Given the description of an element on the screen output the (x, y) to click on. 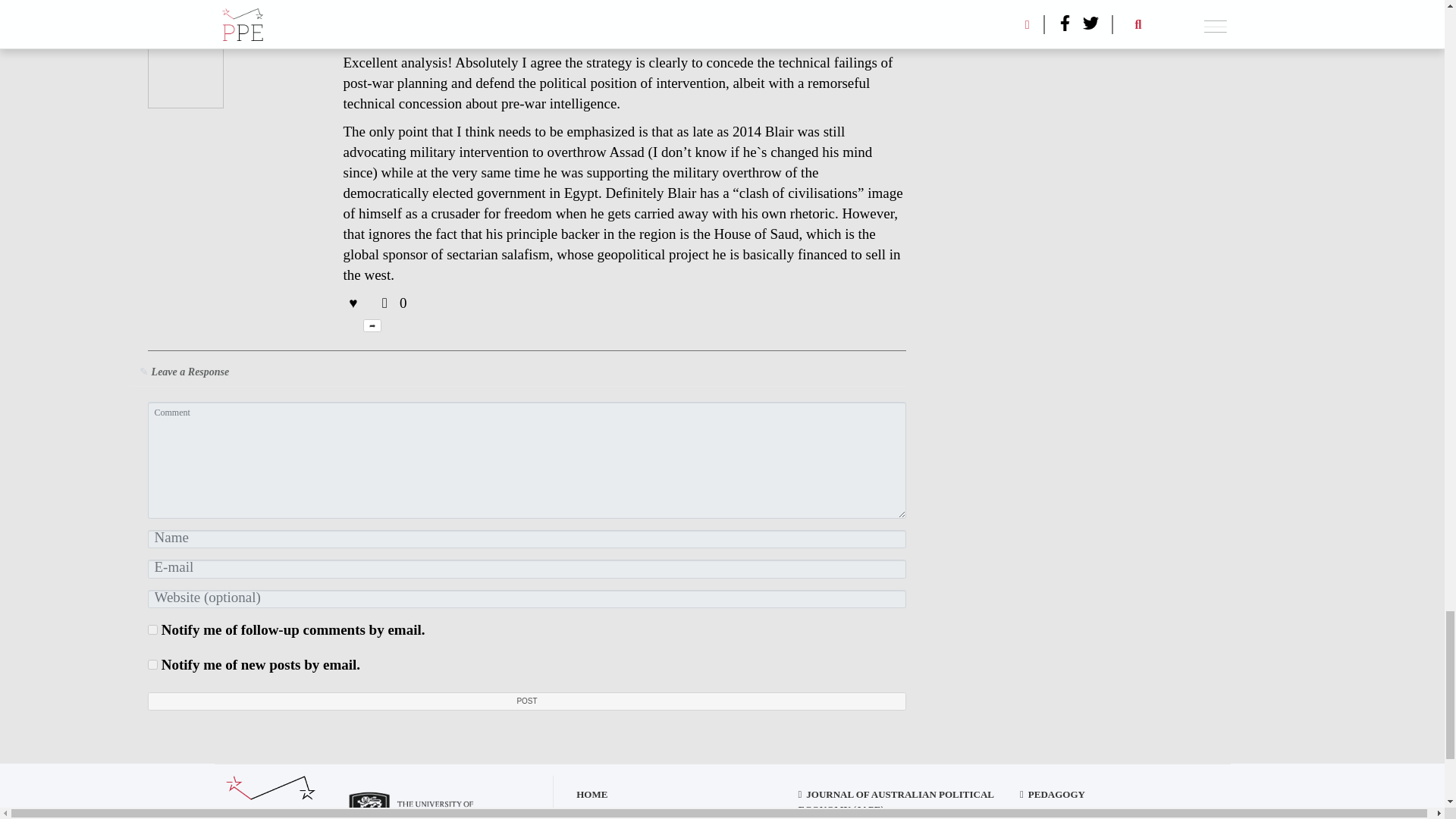
subscribe (152, 664)
subscribe (152, 629)
Post (526, 701)
